Given the description of an element on the screen output the (x, y) to click on. 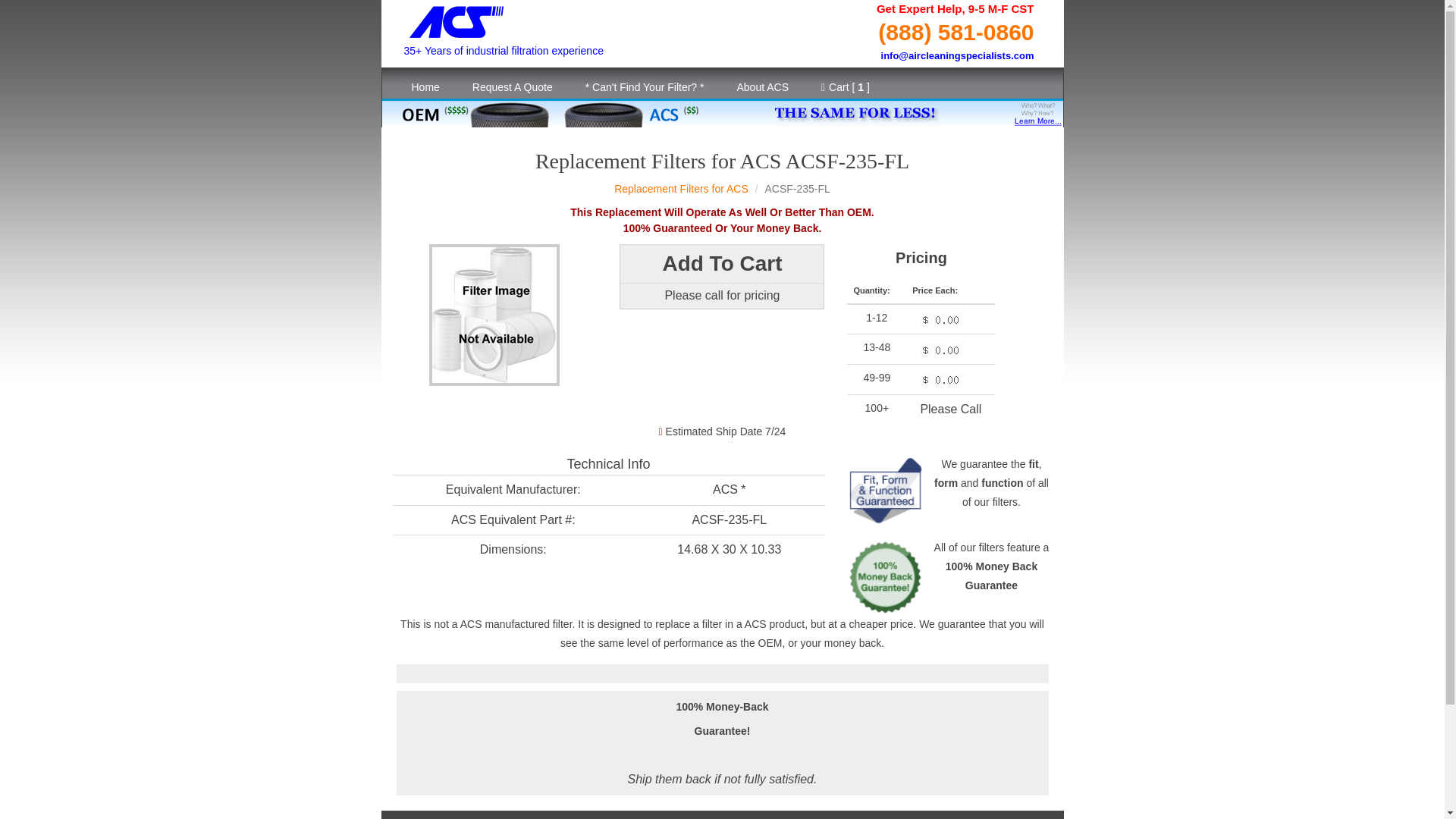
Request a Quote for a Cartridge Filter (512, 87)
About ACS (761, 87)
Use this form to help us id your filter (644, 87)
About ACS (761, 87)
Request A Quote (512, 87)
Replacement Filters for ACS (681, 188)
Home (425, 87)
